Given the description of an element on the screen output the (x, y) to click on. 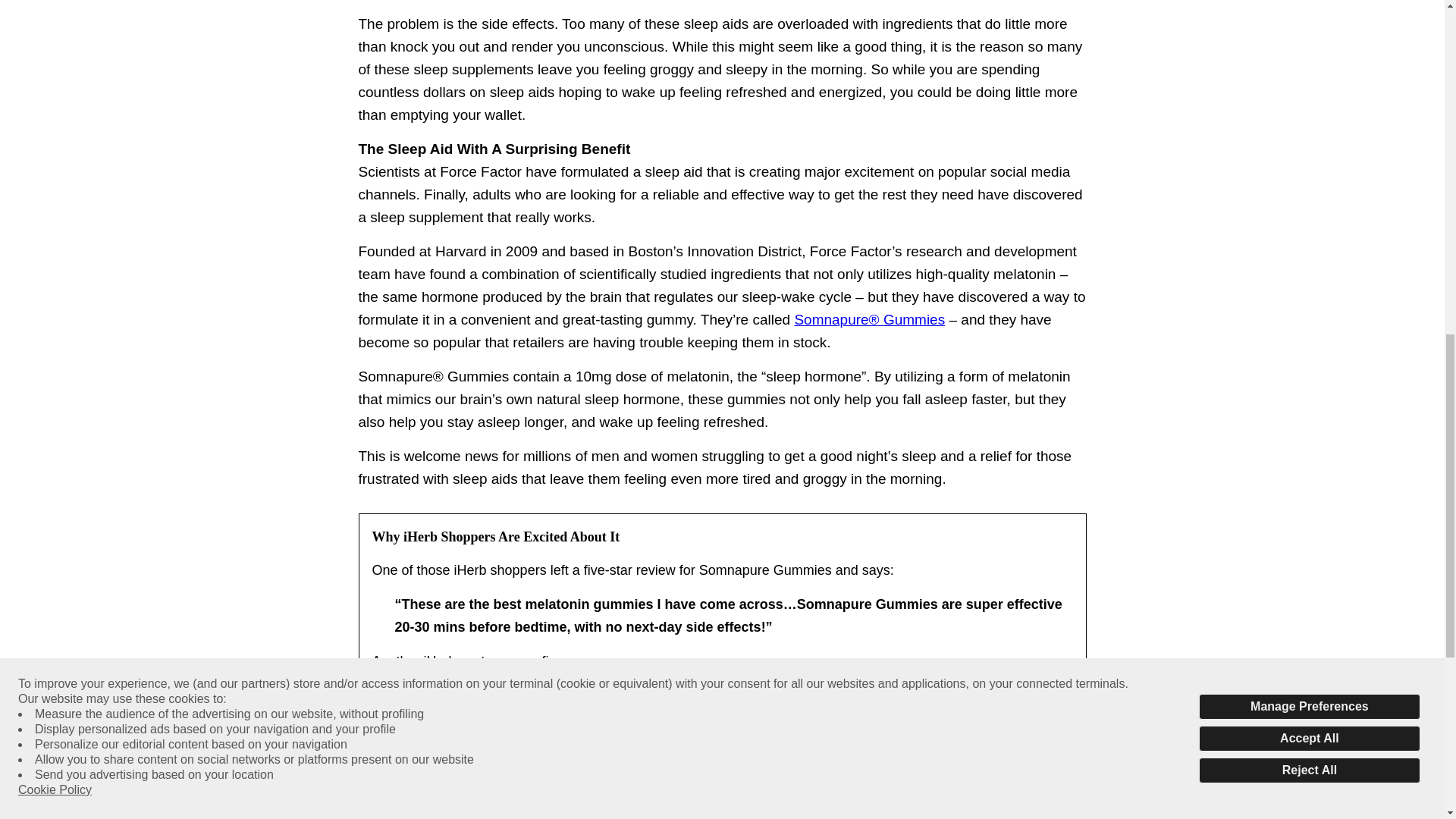
iHerb Somnapure Gummies (873, 319)
